Given the description of an element on the screen output the (x, y) to click on. 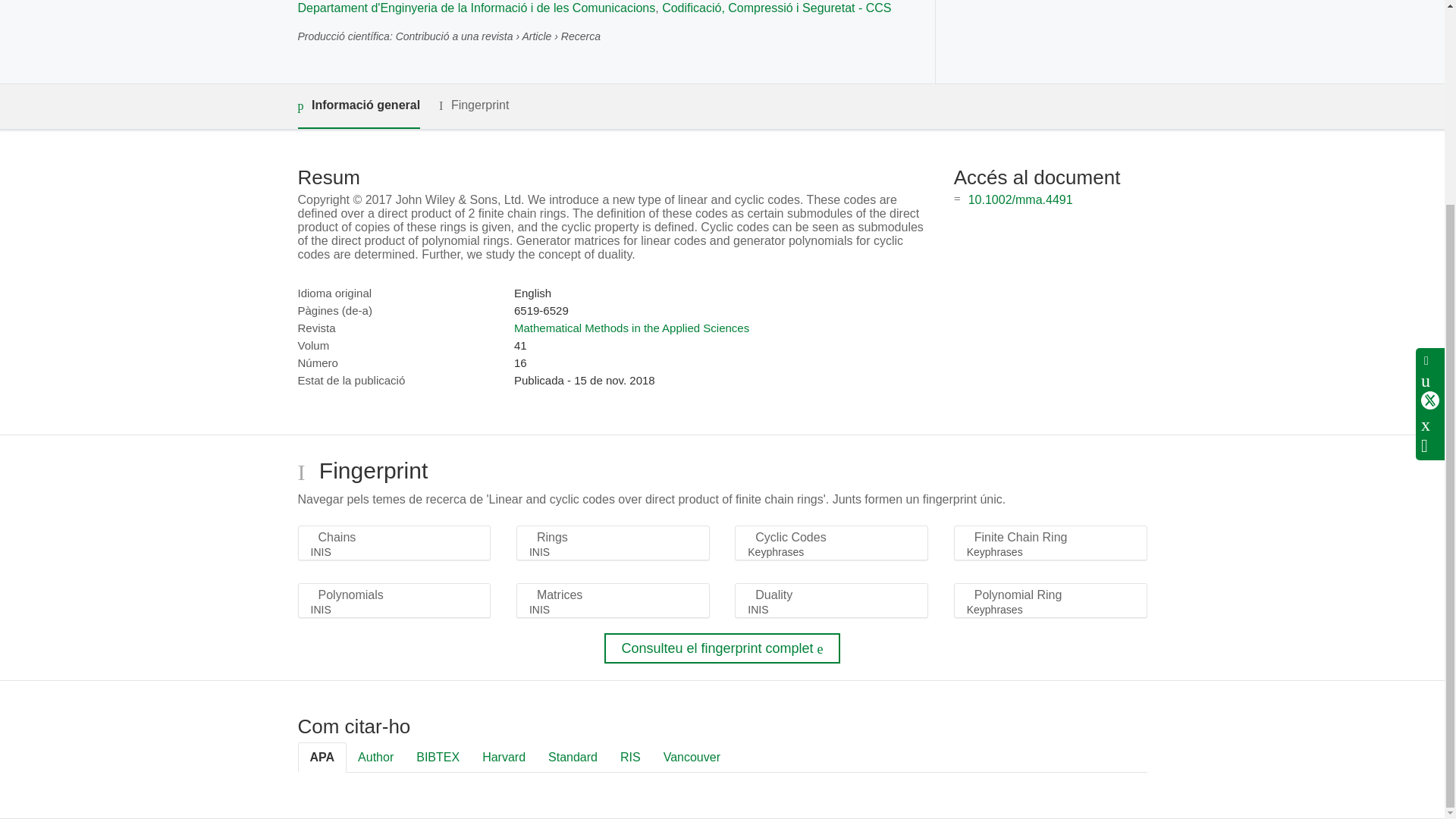
Fingerprint (473, 105)
Consulteu el fingerprint complet (722, 648)
Mathematical Methods in the Applied Sciences (631, 327)
